Given the description of an element on the screen output the (x, y) to click on. 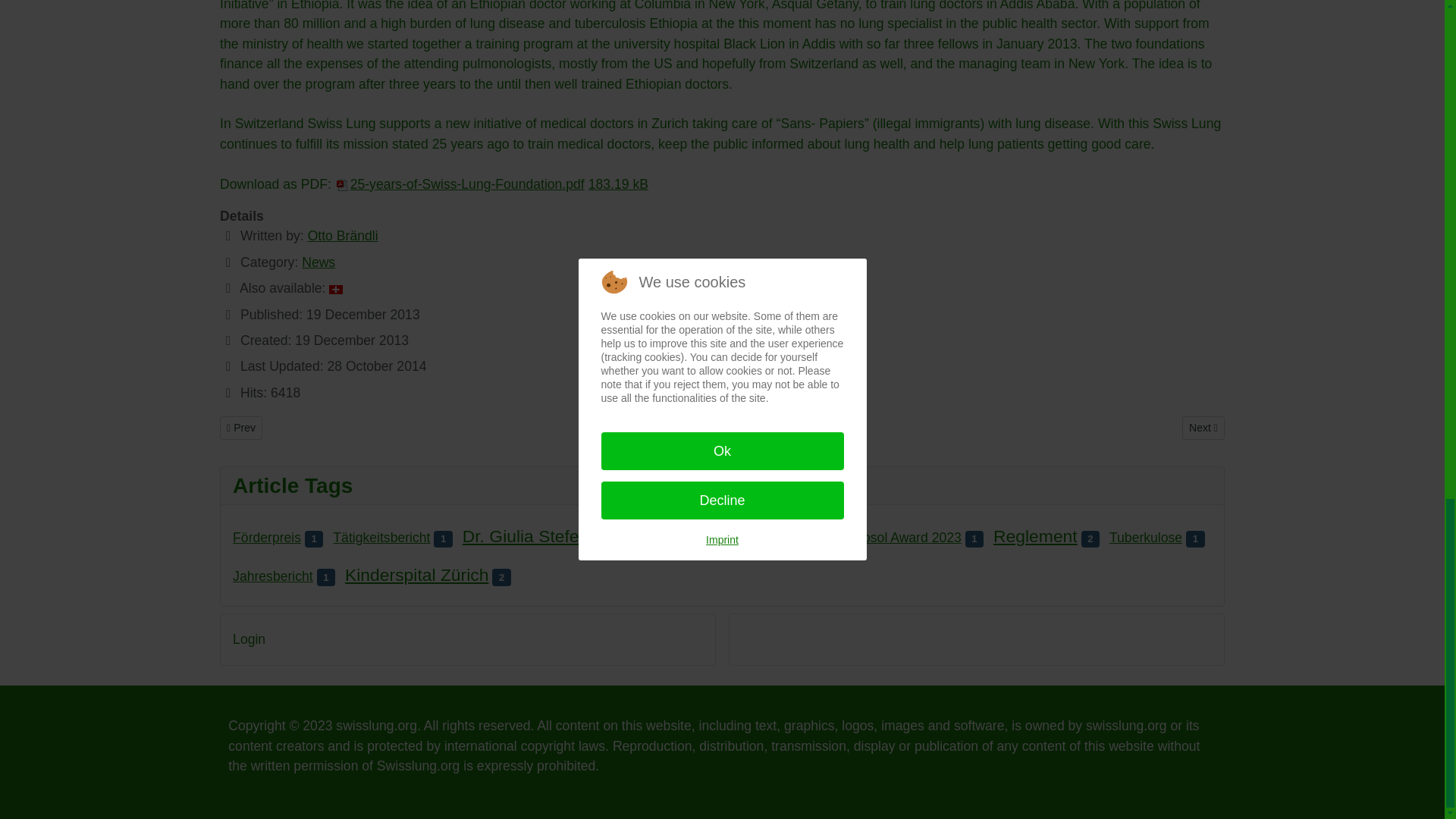
Dr. Giulia Stefenelli (536, 536)
25-years-of-Swiss-Lung-Foundation.pdf183.19 kB (490, 183)
News (240, 427)
DBMR (317, 262)
